Given the description of an element on the screen output the (x, y) to click on. 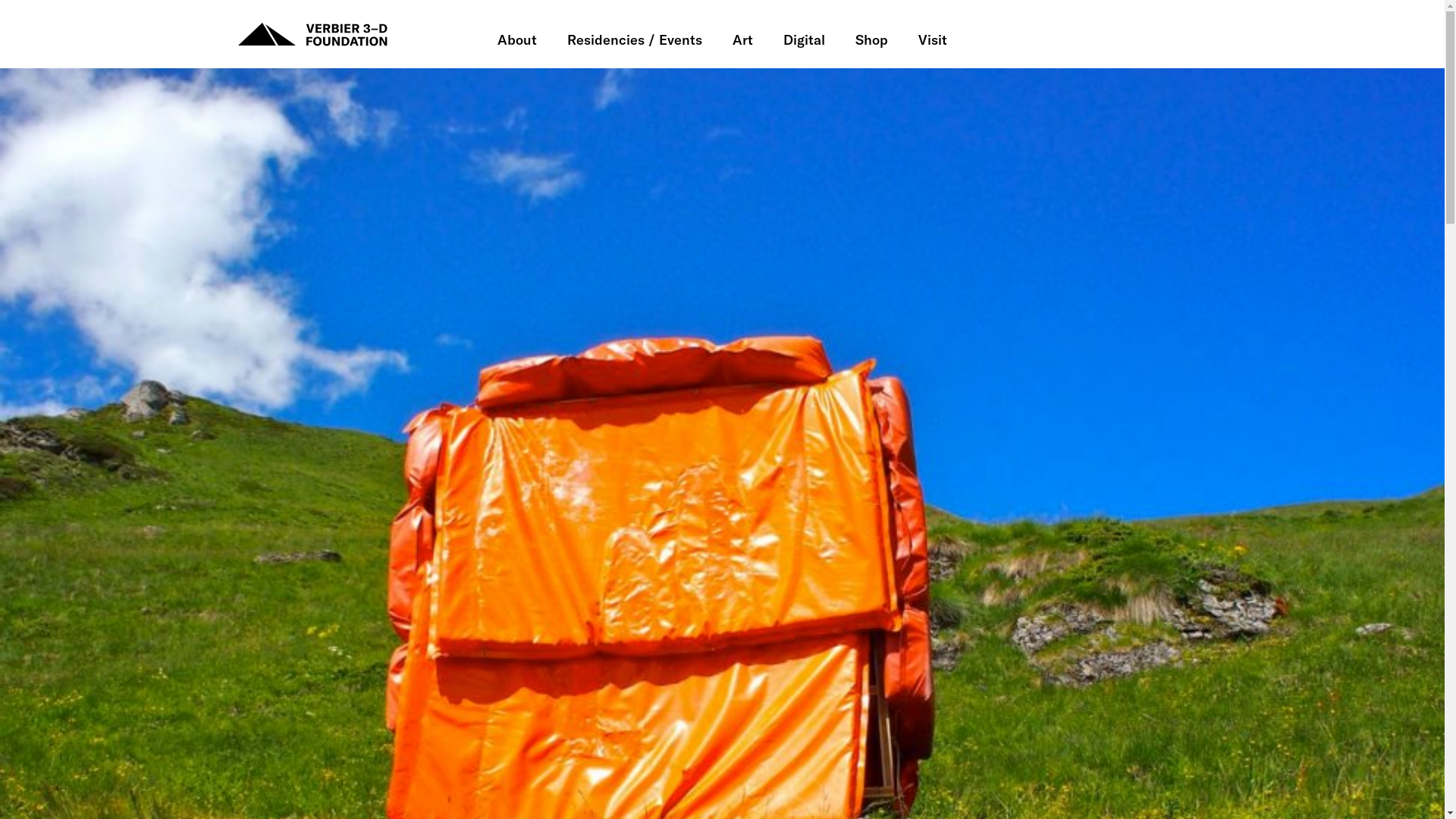
Art Element type: text (742, 45)
Shop Element type: text (871, 45)
Digital Element type: text (804, 45)
Visit Element type: text (932, 45)
About Element type: text (517, 45)
Residencies / Events Element type: text (634, 45)
